Given the description of an element on the screen output the (x, y) to click on. 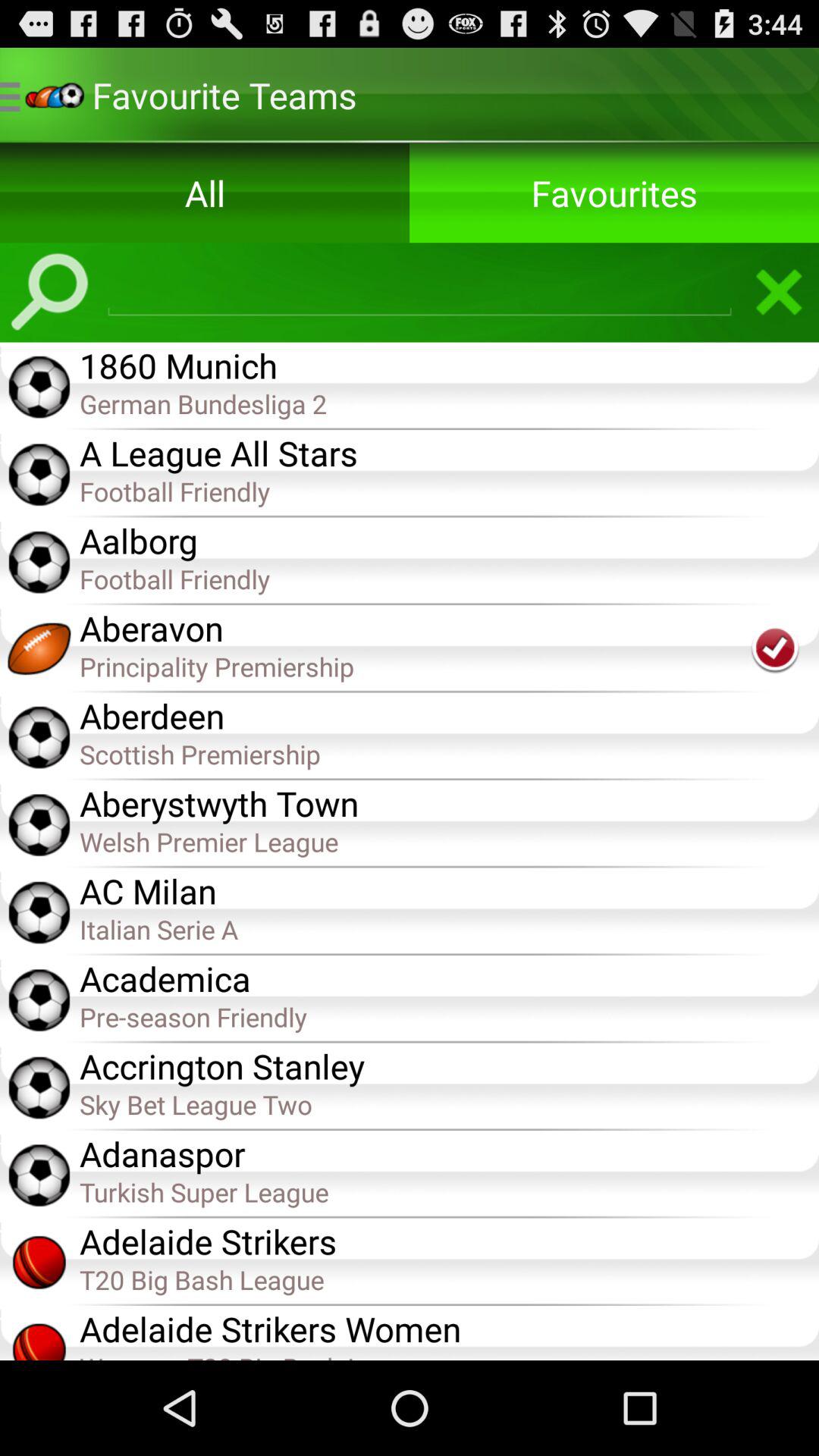
scroll to sky bet league item (449, 1103)
